Given the description of an element on the screen output the (x, y) to click on. 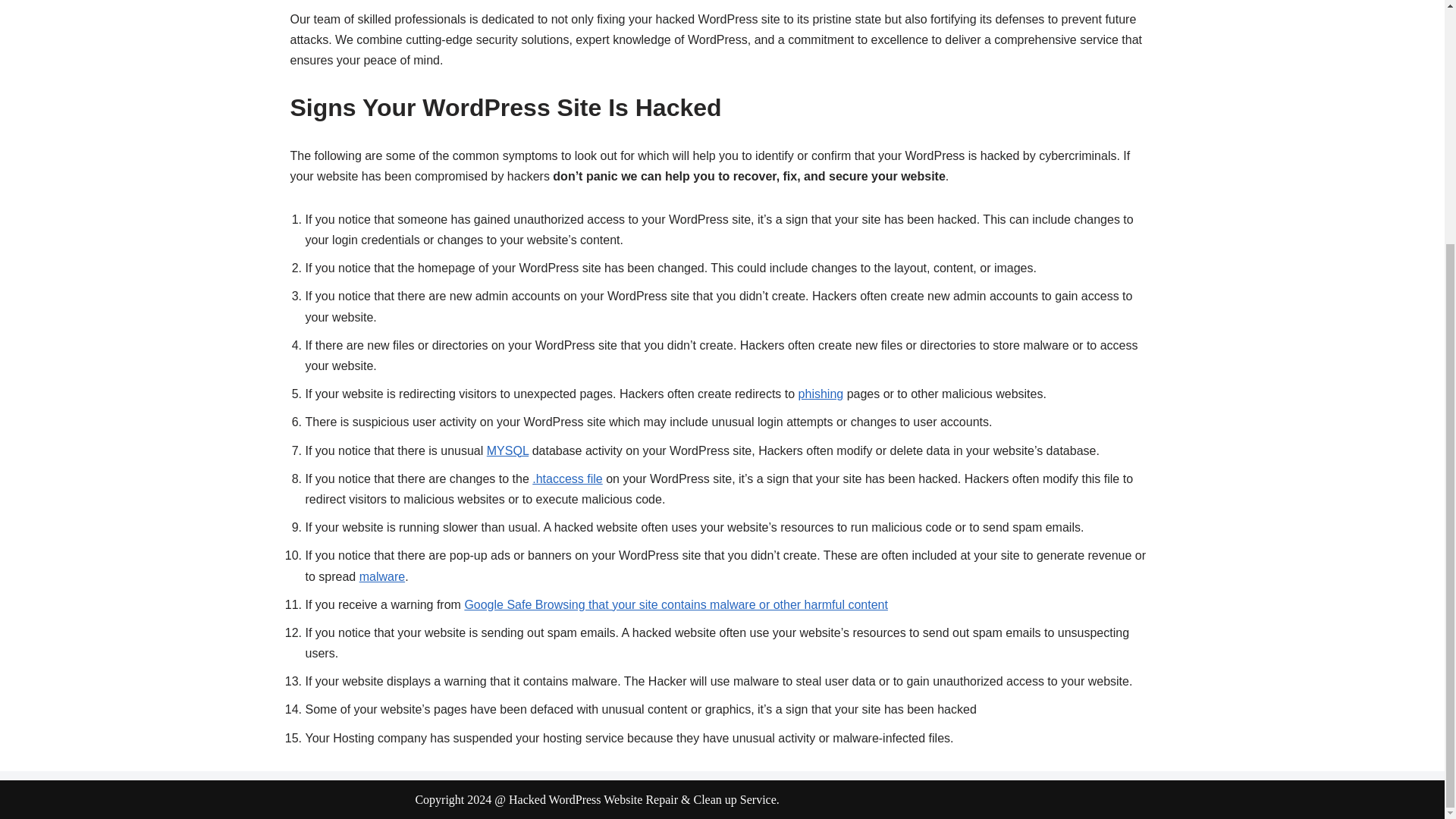
malware (381, 576)
.htaccess file (567, 478)
phishing (820, 393)
MYSQL (507, 450)
